Given the description of an element on the screen output the (x, y) to click on. 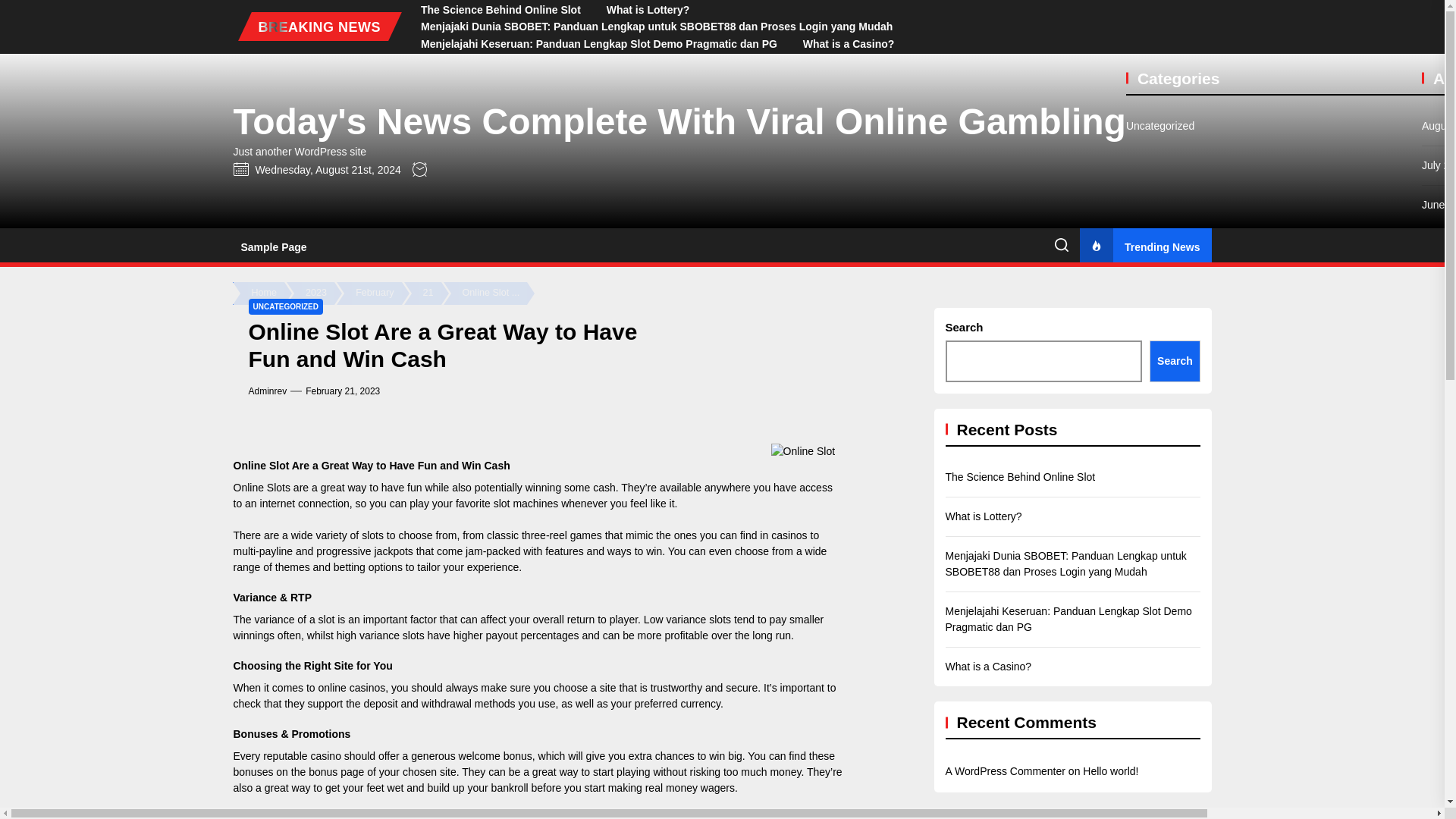
July 2023 (1439, 638)
December 2023 (1439, 441)
April 2023 (1439, 756)
October 2023 (1439, 520)
May 2023 (1439, 717)
January 2024 (1439, 401)
What is a Casino? (848, 44)
May 2024 (1439, 244)
September 2023 (1439, 560)
Sample Page (273, 246)
